Given the description of an element on the screen output the (x, y) to click on. 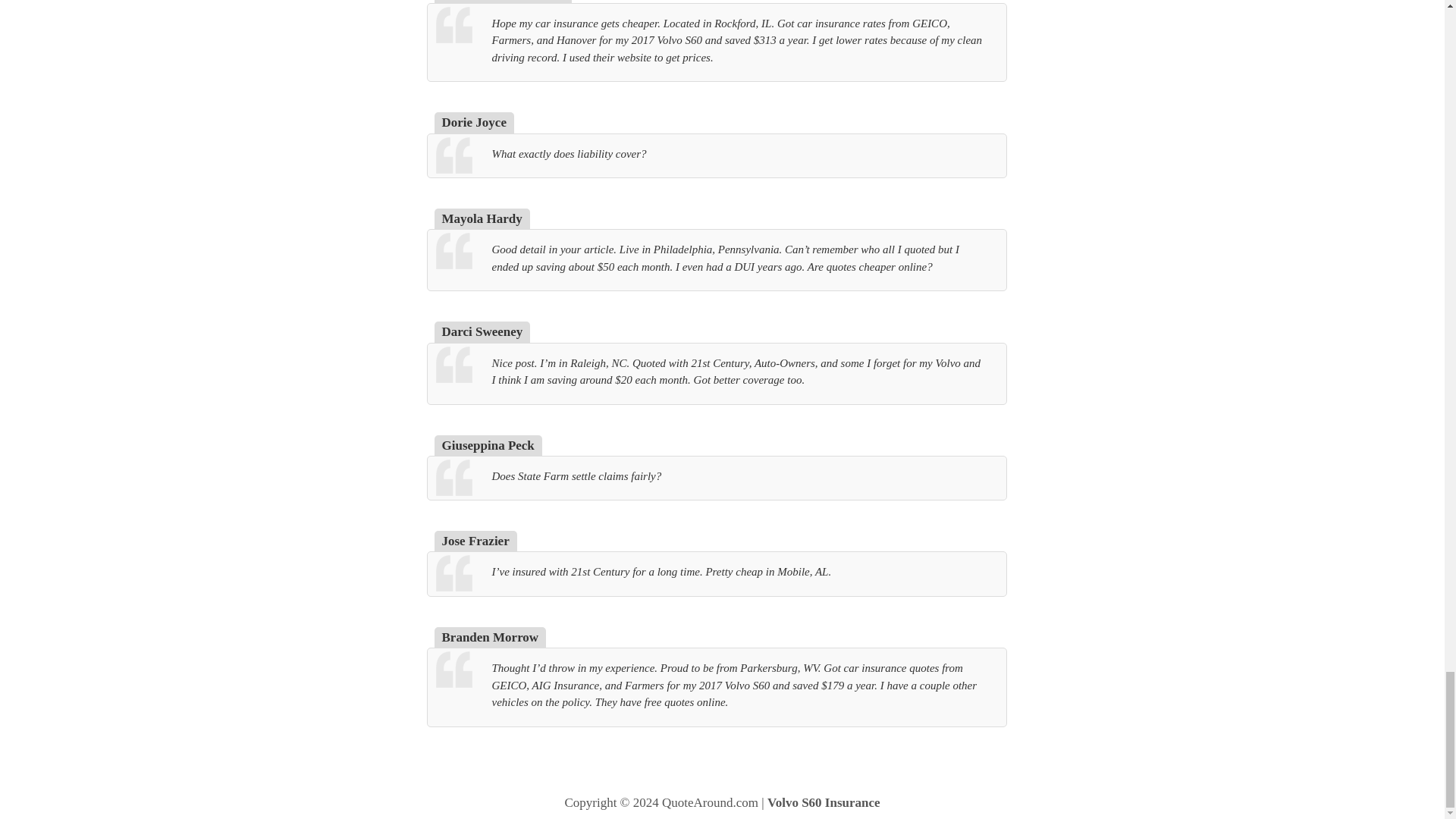
Volvo S60 Insurance (823, 802)
